Given the description of an element on the screen output the (x, y) to click on. 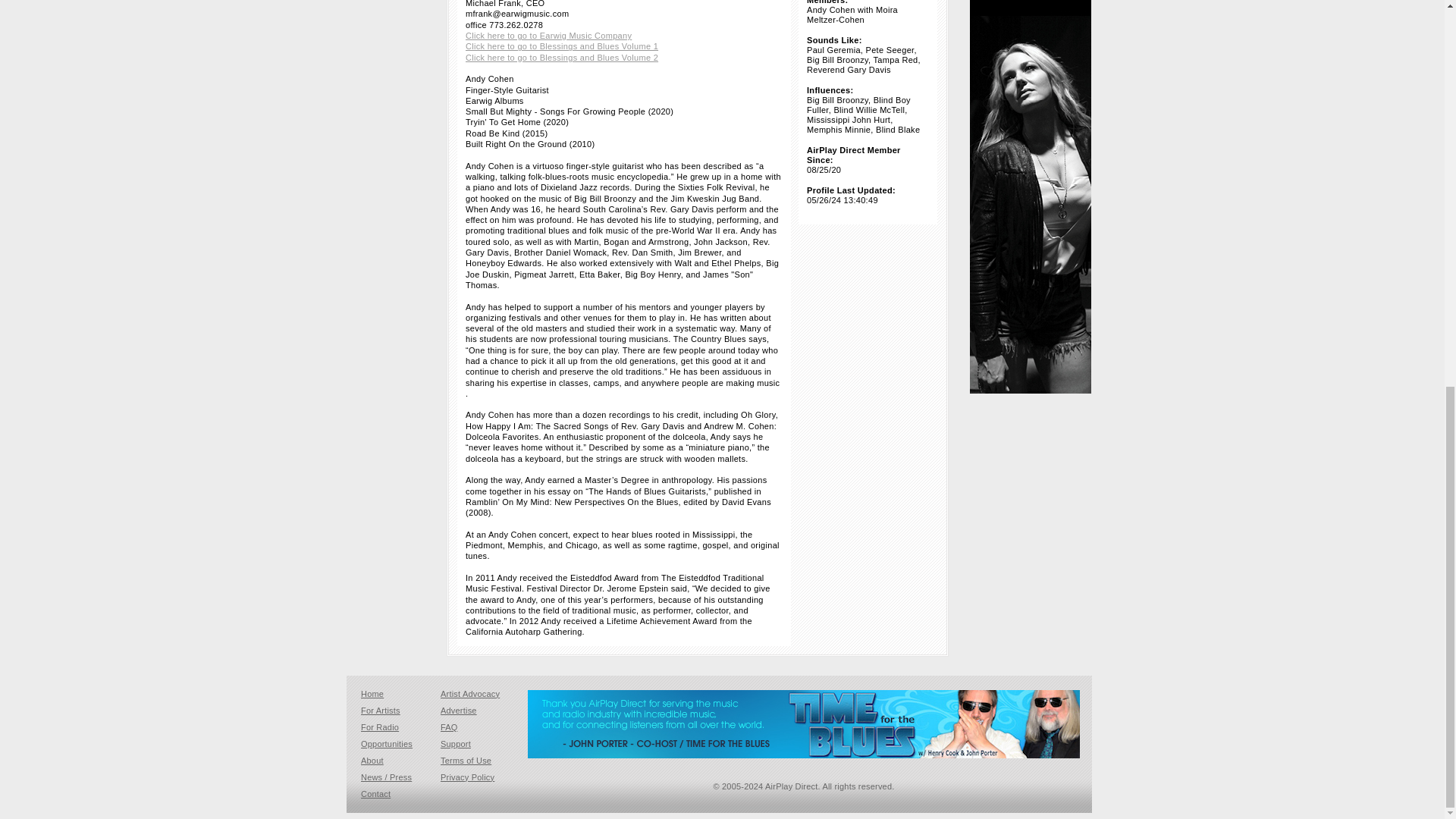
Lyrics (800, 67)
Info (800, 93)
Info (800, 134)
Info (800, 10)
Download (866, 101)
Lyrics (800, 25)
Download (866, 18)
Lyrics (800, 151)
Download (866, 60)
Info (800, 51)
Download (866, 142)
Lyrics (800, 109)
